Given the description of an element on the screen output the (x, y) to click on. 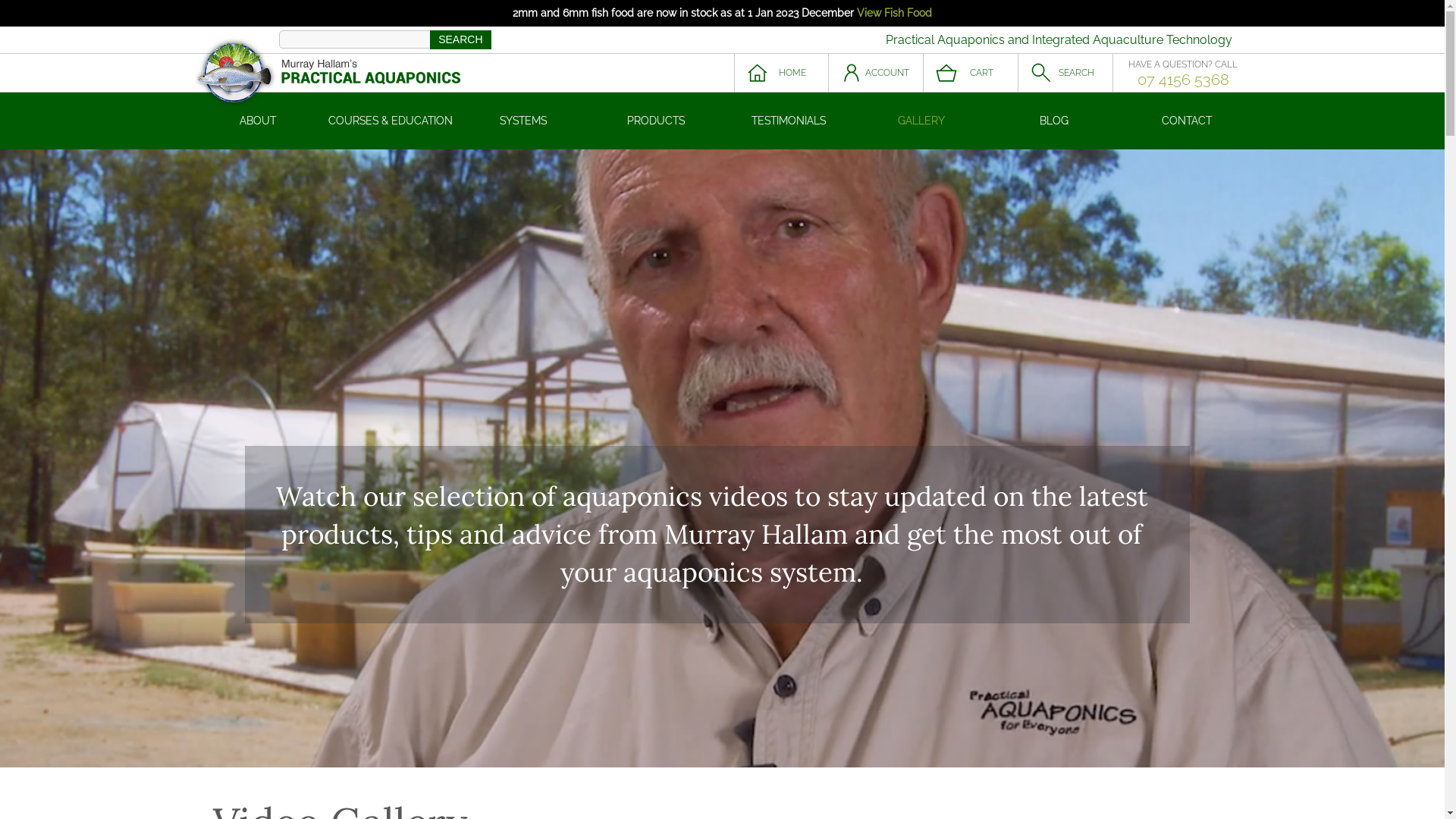
PRODUCTS Element type: text (655, 120)
SEARCH Element type: text (1064, 72)
ACCOUNT Element type: text (875, 72)
07 4156 5368 Element type: text (1183, 79)
SEARCH Element type: text (459, 39)
View Fish Food Element type: text (893, 12)
CART Element type: text (970, 72)
TESTIMONIALS Element type: text (787, 120)
GALLERY Element type: text (921, 120)
SYSTEMS Element type: text (522, 120)
COURSES & EDUCATION Element type: text (390, 120)
HOME Element type: text (781, 72)
BLOG Element type: text (1053, 120)
ABOUT Element type: text (257, 120)
CONTACT Element type: text (1186, 120)
